Given the description of an element on the screen output the (x, y) to click on. 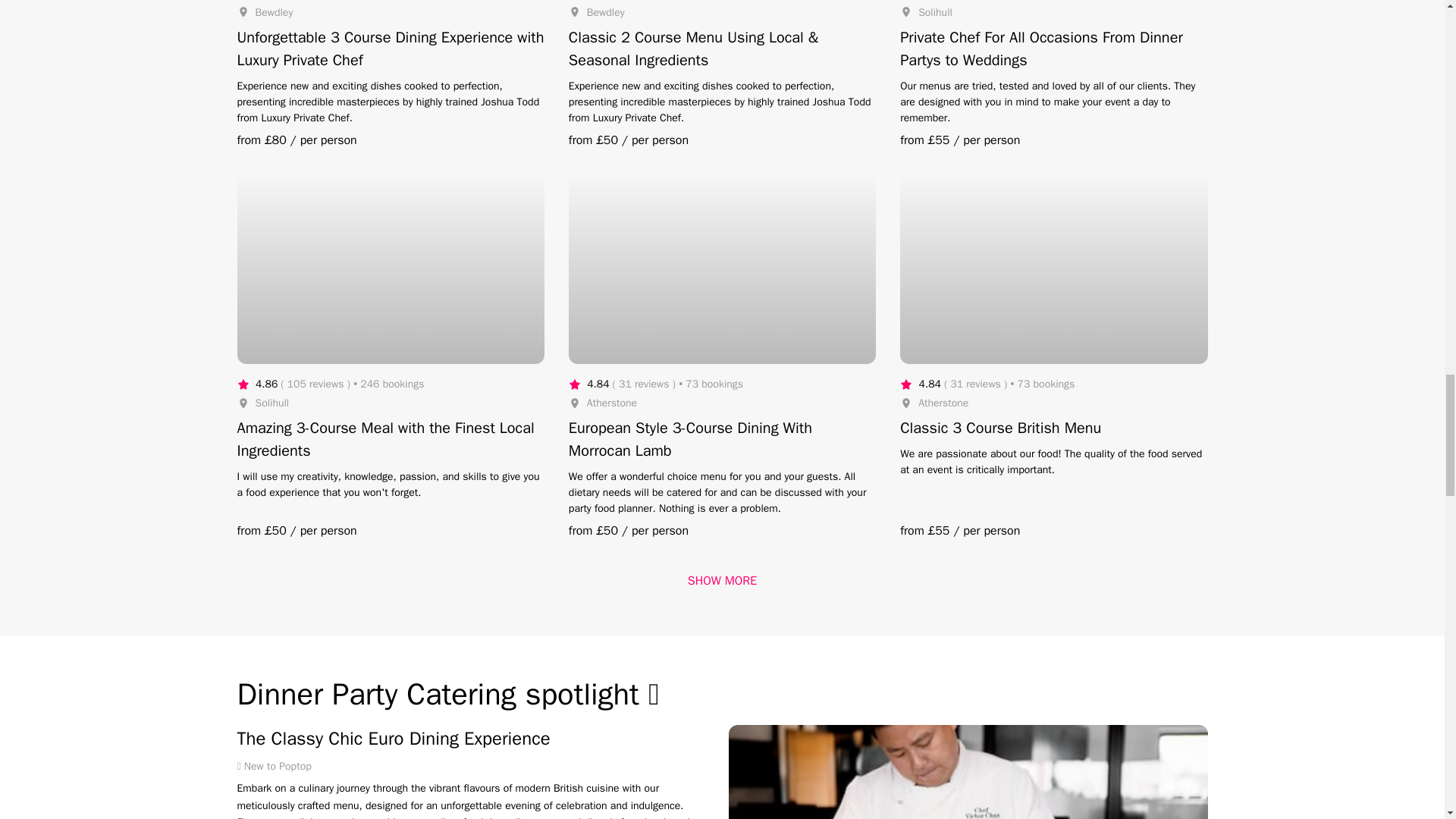
SHOW MORE (721, 580)
